Given the description of an element on the screen output the (x, y) to click on. 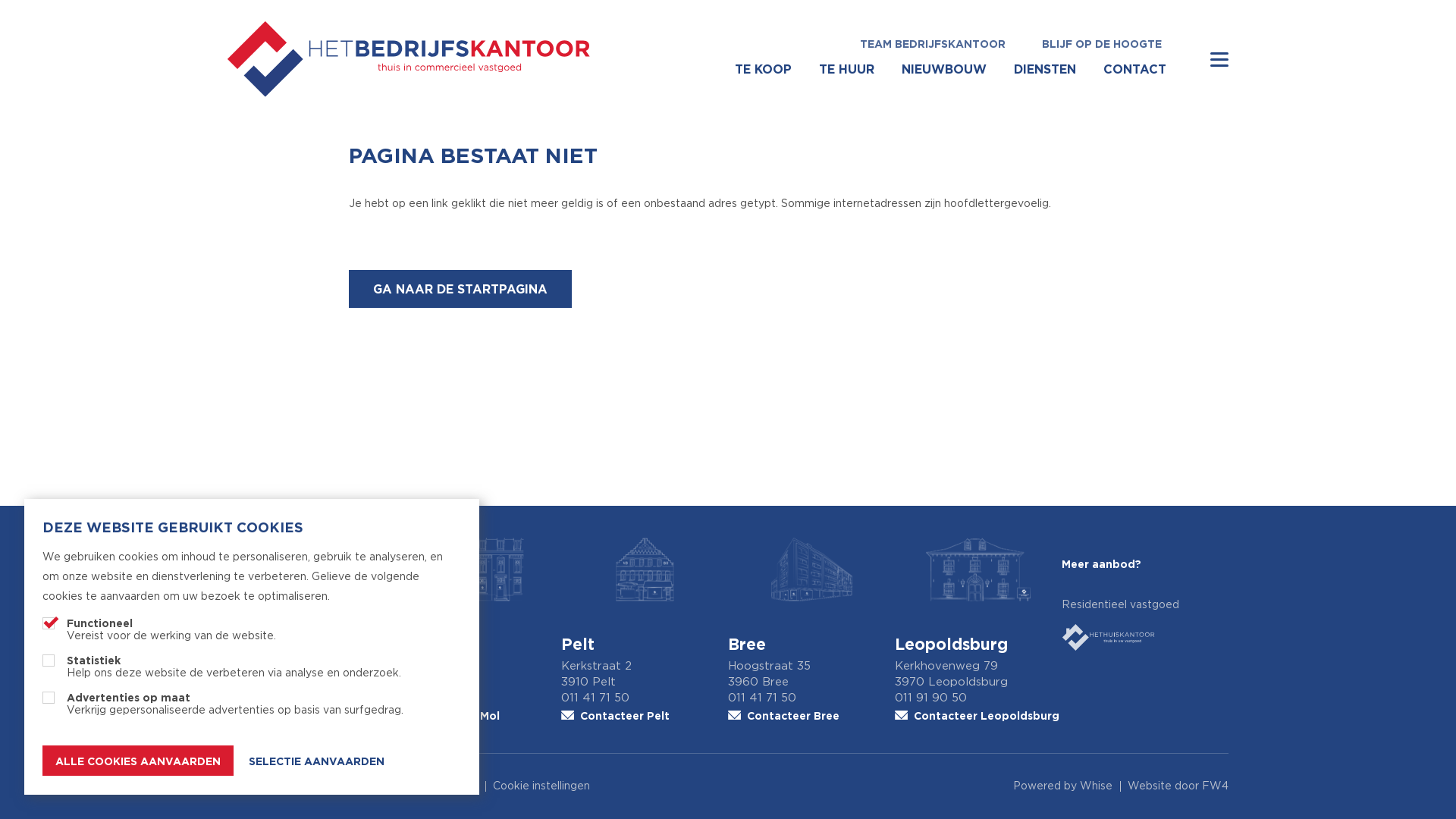
014 39 51 11 Element type: text (477, 698)
Contacteer Bree Element type: text (811, 715)
011 41 71 50 Element type: text (644, 698)
011 91 90 50 Element type: text (977, 698)
Residentieel vastgoed Element type: text (1144, 626)
TEAM BEDRIJFSKANTOOR Element type: text (932, 43)
TE KOOP Element type: text (763, 68)
Privacy Element type: text (375, 786)
Contacteer Leopoldsburg Element type: text (977, 715)
011 91 90 50 Element type: text (310, 698)
Contacteer Mol Element type: text (477, 715)
GA NAAR DE STARTPAGINA Element type: text (459, 288)
ALLE COOKIES AANVAARDEN Element type: text (137, 760)
SELECTIE AANVAARDEN Element type: text (316, 761)
BLIJF OP DE HOOGTE Element type: text (1101, 43)
Cookie instellingen Element type: text (540, 786)
Contacteer Lommel Element type: text (310, 715)
Cookiebeleid Element type: text (443, 786)
Contacteer Pelt Element type: text (644, 715)
Website door FW4 Element type: text (1177, 786)
Gebruiksvoorwaarden Element type: text (284, 786)
011 41 71 50 Element type: text (811, 698)
TE HUUR Element type: text (846, 68)
DIENSTEN Element type: text (1044, 68)
NIEUWBOUW Element type: text (944, 68)
CONTACT Element type: text (1134, 68)
Powered by Whise Element type: text (1062, 786)
